Given the description of an element on the screen output the (x, y) to click on. 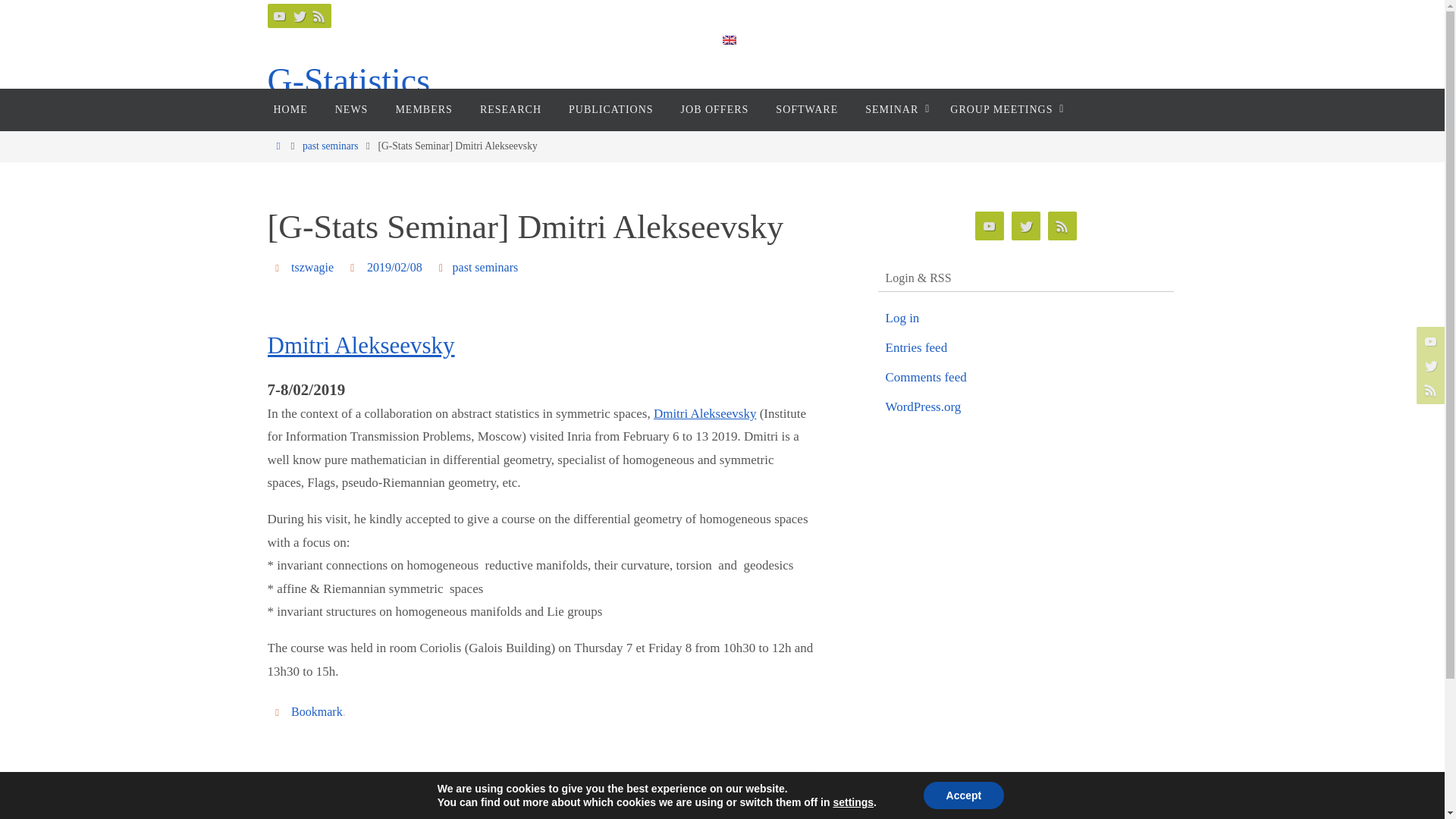
Date (354, 267)
View all posts by tszwagie (312, 267)
 Bookmark the permalink (278, 711)
SOFTWARE (806, 109)
Geometric Statistics Workshop (676, 789)
past seminars (330, 145)
Twitter (298, 15)
RSS (317, 15)
RESEARCH (509, 109)
Entries feed (916, 347)
